Given the description of an element on the screen output the (x, y) to click on. 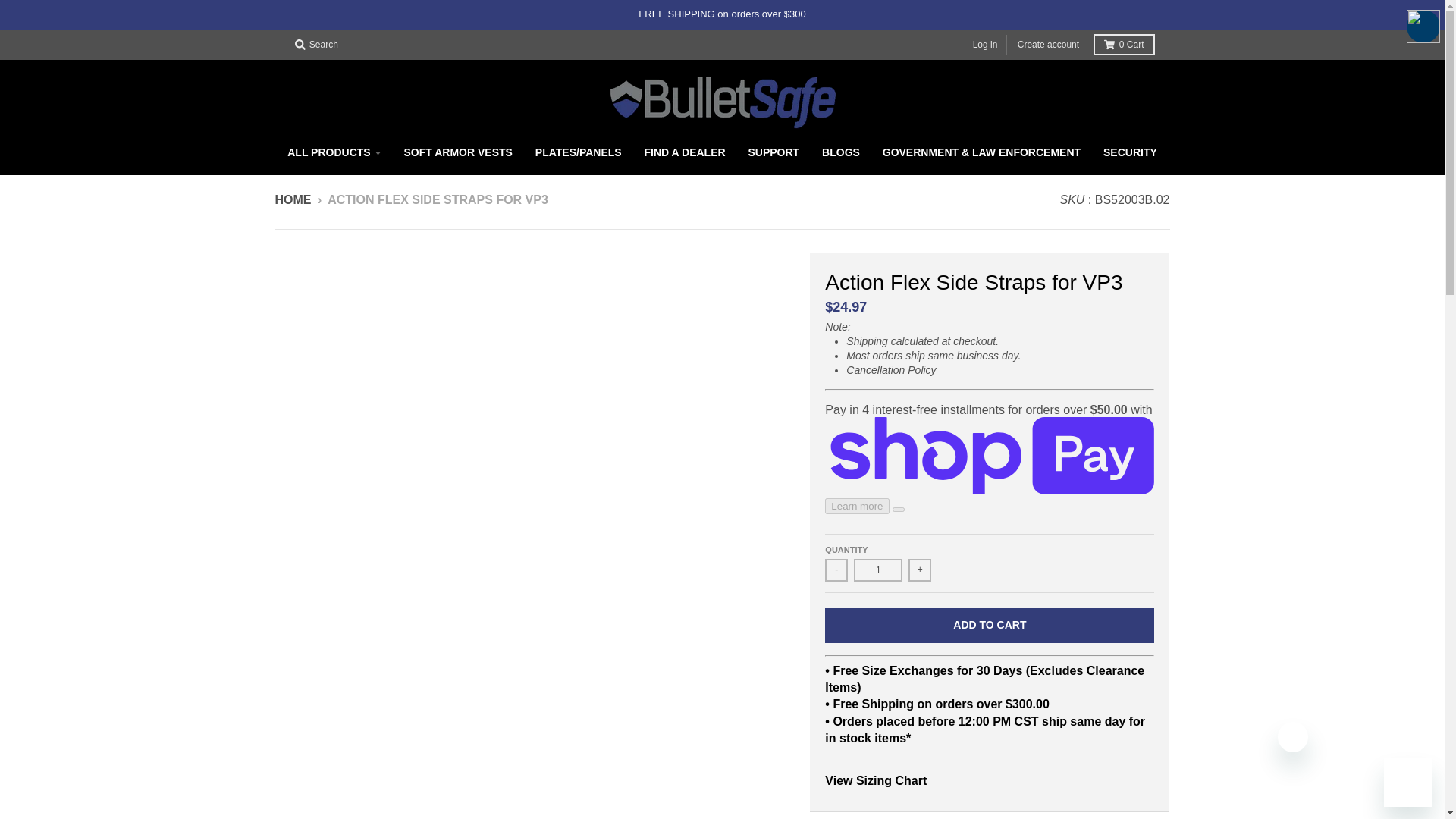
Back to the frontpage (293, 199)
0 Cart (1123, 44)
Log in (985, 45)
Accessibility Menu (1422, 26)
Search (315, 44)
Create account (1048, 45)
BLOGS (840, 152)
SUPPORT (773, 152)
FIND A DEALER (684, 152)
SECURITY (1130, 152)
1 (877, 569)
SOFT ARMOR VESTS (458, 152)
Close message (1292, 736)
ALL PRODUCTS (334, 152)
Button to launch messaging window (1408, 782)
